Given the description of an element on the screen output the (x, y) to click on. 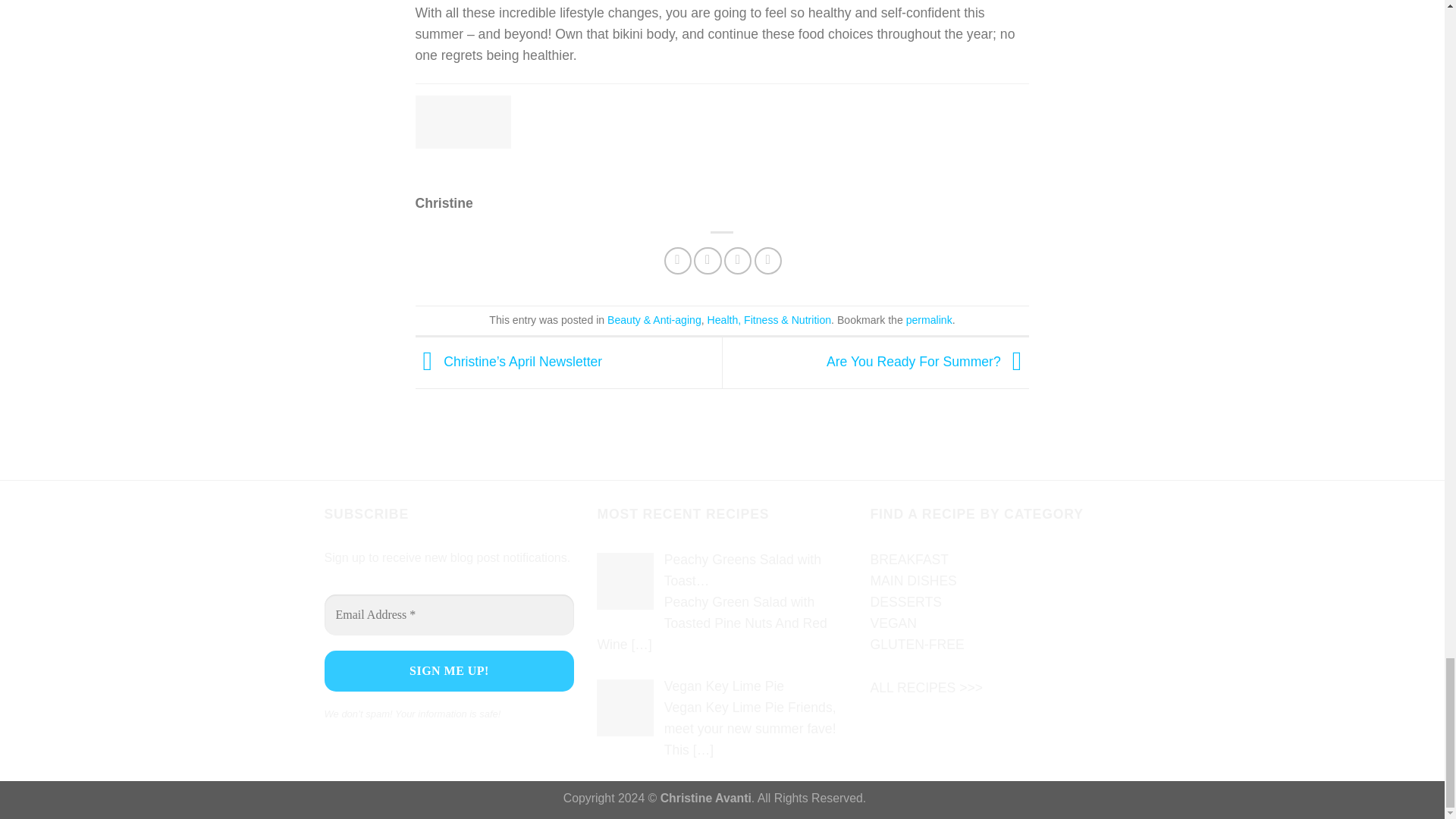
Email to a Friend (737, 260)
Share on Twitter (707, 260)
Email Address (449, 614)
Share on Facebook (677, 260)
Pin on Pinterest (767, 260)
Permalink to Tips for a Healthy, Confident Body (928, 319)
Sign Me Up! (449, 670)
